Given the description of an element on the screen output the (x, y) to click on. 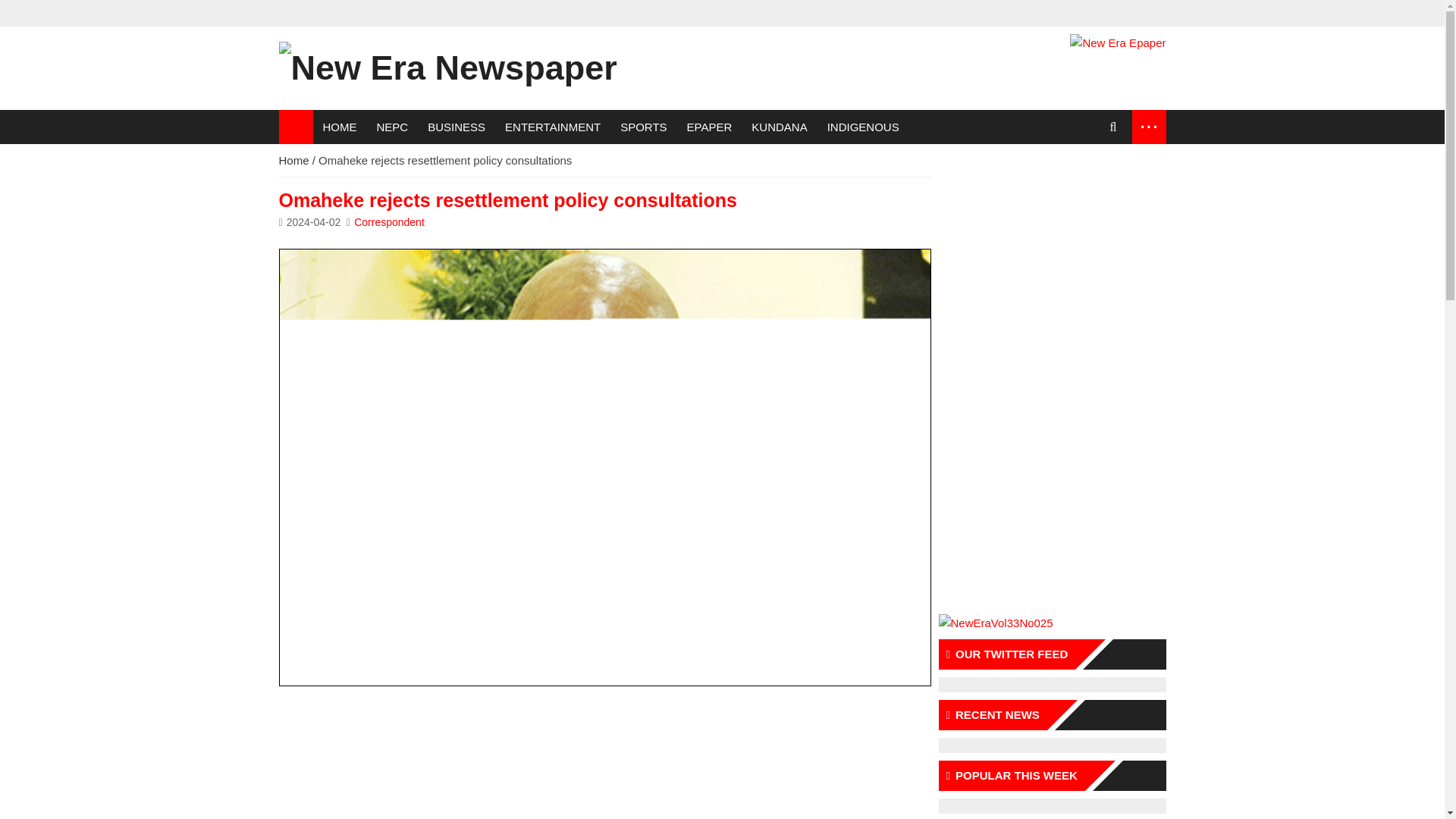
INDIGENOUS (862, 126)
Correspondent (389, 222)
SPORTS (643, 126)
ENTERTAINMENT (552, 126)
BUSINESS (456, 126)
HOME (339, 126)
New Era Newspaper (448, 68)
Advertisement (605, 756)
NEPC (392, 126)
Home (293, 160)
